Given the description of an element on the screen output the (x, y) to click on. 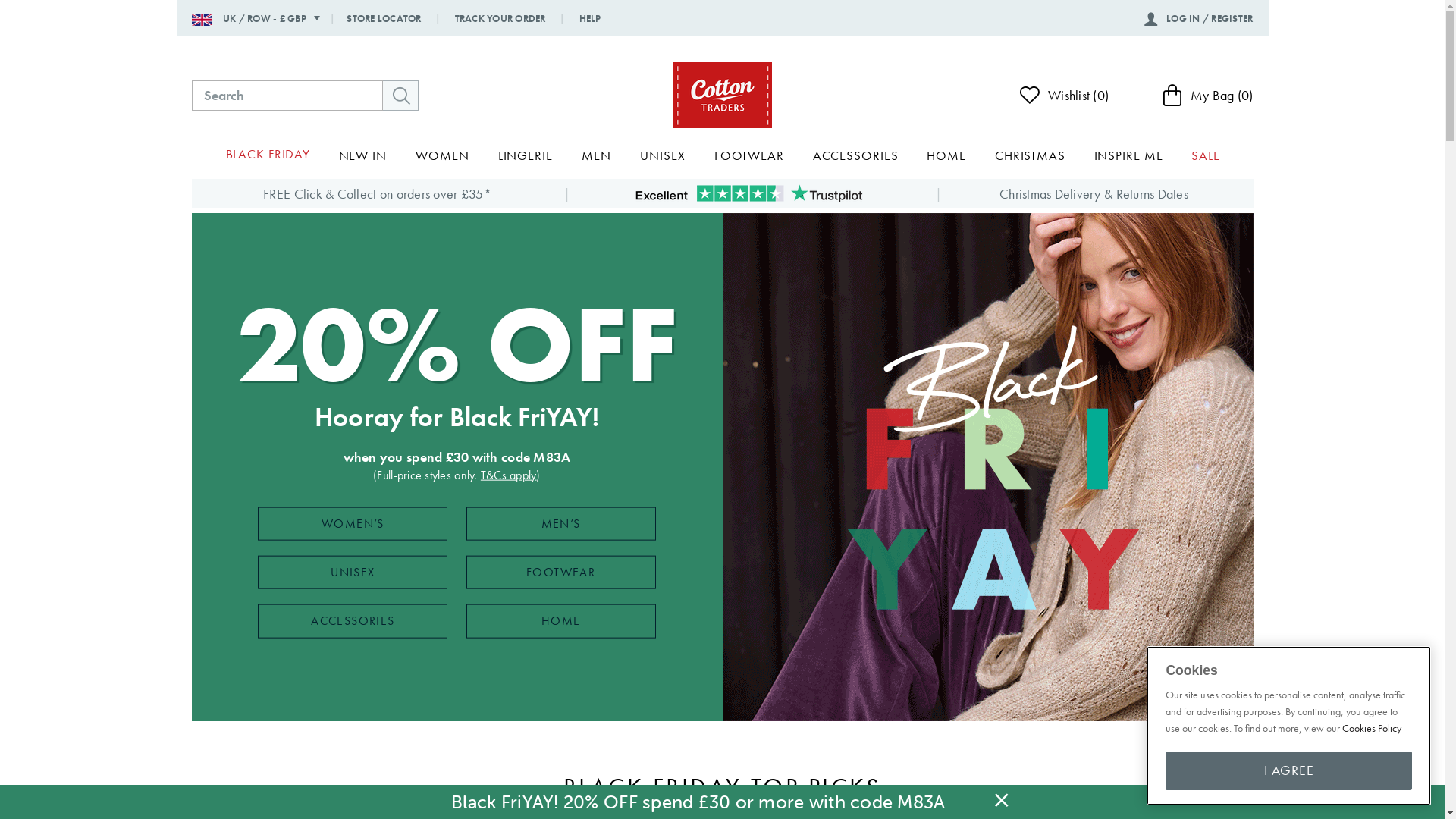
ACCESSORIES Element type: text (352, 620)
Wishlist (0) Element type: text (1059, 95)
REGISTER Element type: text (1231, 18)
FOOTWEAR Element type: text (749, 155)
LOG IN Element type: text (1172, 18)
Cotton Traders Element type: hover (722, 95)
WOMEN Element type: text (441, 155)
UNISEX Element type: text (661, 155)
ACCESSORIES Element type: text (855, 155)
CHRISTMAS Element type: text (1029, 155)
NEW IN Element type: text (362, 155)
I AGREE Element type: text (1288, 770)
BLACK FRIDAY Element type: text (268, 155)
LINGERIE Element type: text (525, 155)
MEN Element type: text (596, 155)
HOME Element type: text (946, 155)
HOME Element type: text (560, 620)
TRACK YOUR ORDER Element type: text (490, 18)
UNISEX Element type: text (352, 572)
Christmas Delivery & Returns Dates Element type: text (1093, 193)
My Bag (0) Element type: text (1207, 95)
FOOTWEAR Element type: text (560, 572)
Cookies Policy Element type: text (1371, 727)
Home page Element type: hover (722, 95)
STORE LOCATOR Element type: text (383, 18)
INSPIRE ME Element type: text (1128, 155)
HELP Element type: text (580, 18)
SALE Element type: text (1205, 155)
